Given the description of an element on the screen output the (x, y) to click on. 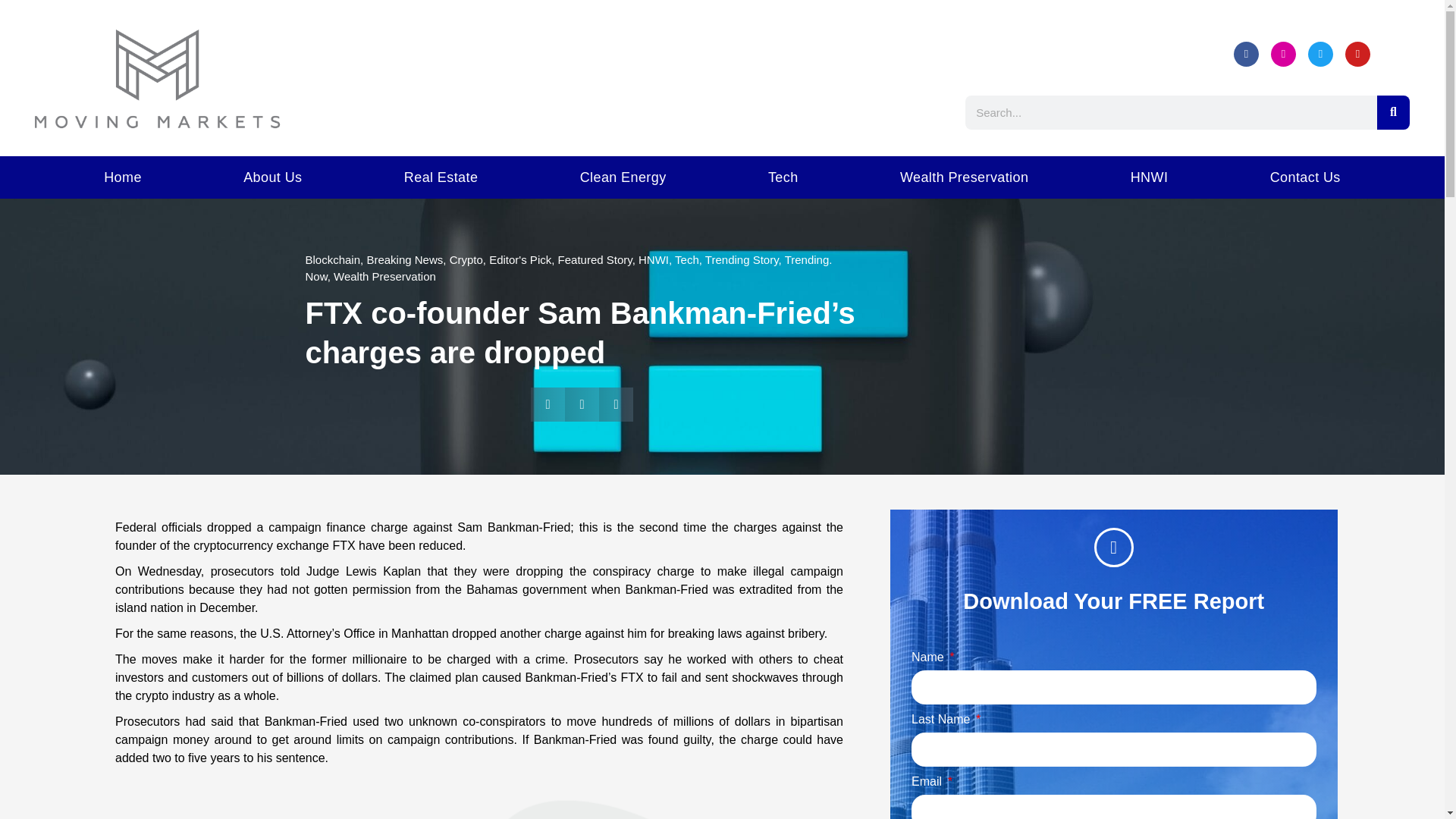
HNWI (653, 259)
Featured Story (594, 259)
Wealth Preservation (384, 276)
Contact Us (1305, 177)
Trending. Now (567, 268)
Tech (686, 259)
Wealth Preservation (964, 177)
HNWI (1150, 177)
Real Estate (441, 177)
Trending Story (741, 259)
